Given the description of an element on the screen output the (x, y) to click on. 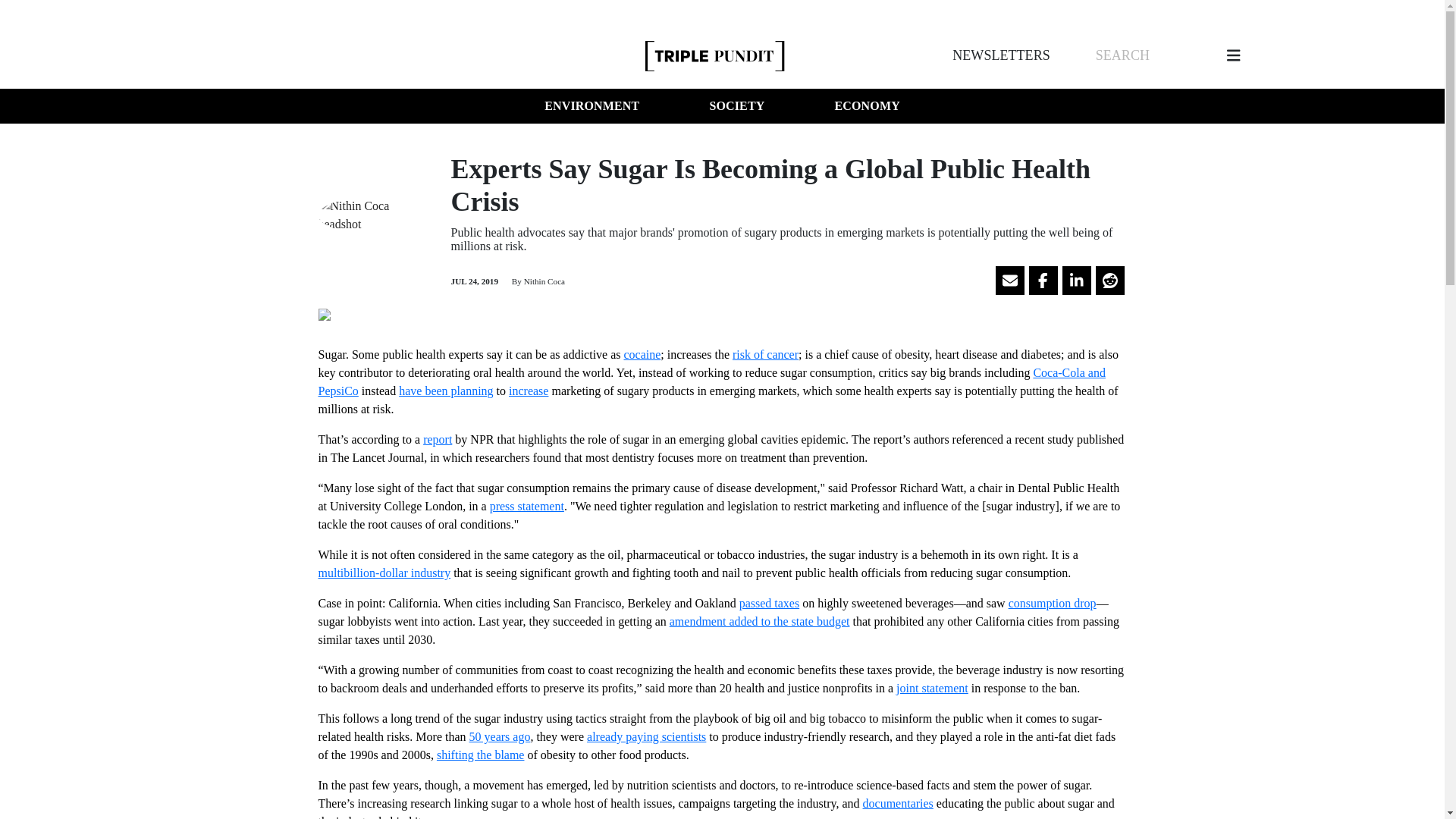
Coca-Cola and PepsiCo (711, 381)
SOCIETY (736, 105)
risk of cancer (764, 354)
joint statement (932, 687)
cocaine (642, 354)
By Nithin Coca (536, 280)
press statement (526, 505)
ECONOMY (866, 105)
increase (528, 390)
multibillion-dollar industry (384, 572)
